Given the description of an element on the screen output the (x, y) to click on. 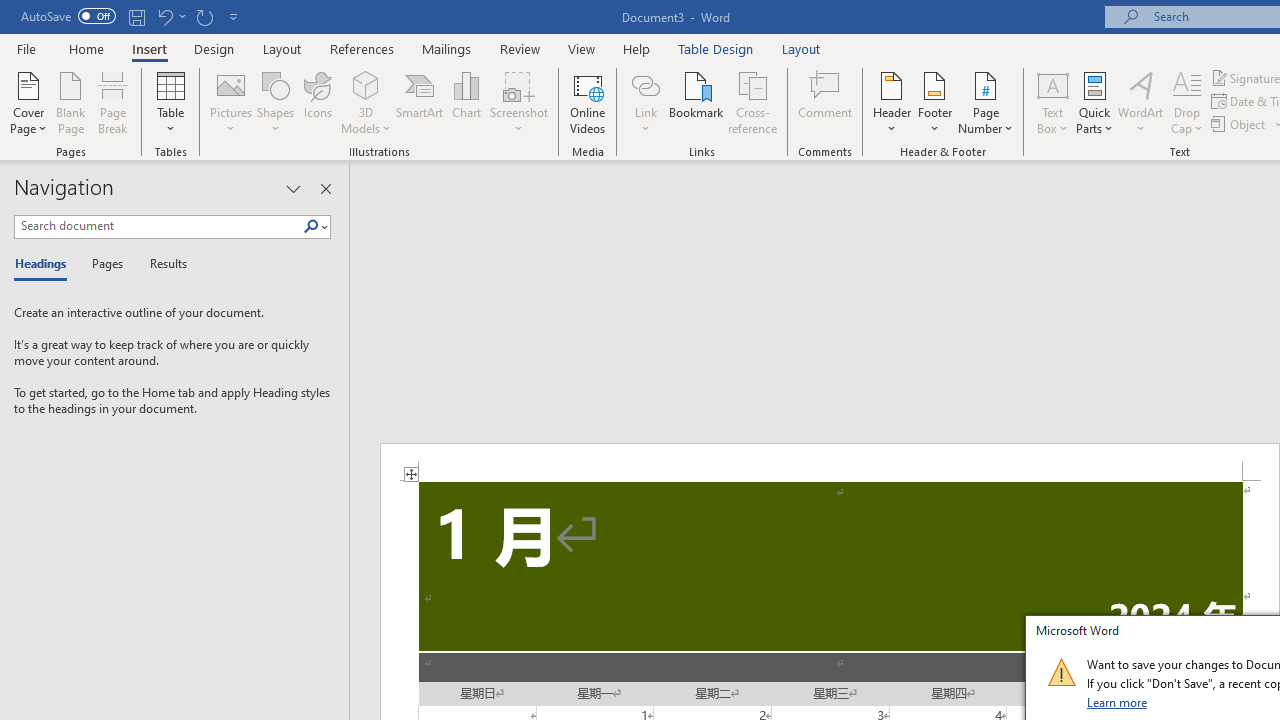
SmartArt... (419, 102)
Drop Cap (1187, 102)
Task Pane Options (293, 188)
Repeat Doc Close (204, 15)
Search (315, 227)
Text Box (1052, 102)
Pictures (230, 102)
View (582, 48)
Quick Access Toolbar (131, 16)
Results (161, 264)
References (362, 48)
Undo Increase Indent (164, 15)
Page Number (986, 102)
Mailings (447, 48)
3D Models (366, 84)
